Given the description of an element on the screen output the (x, y) to click on. 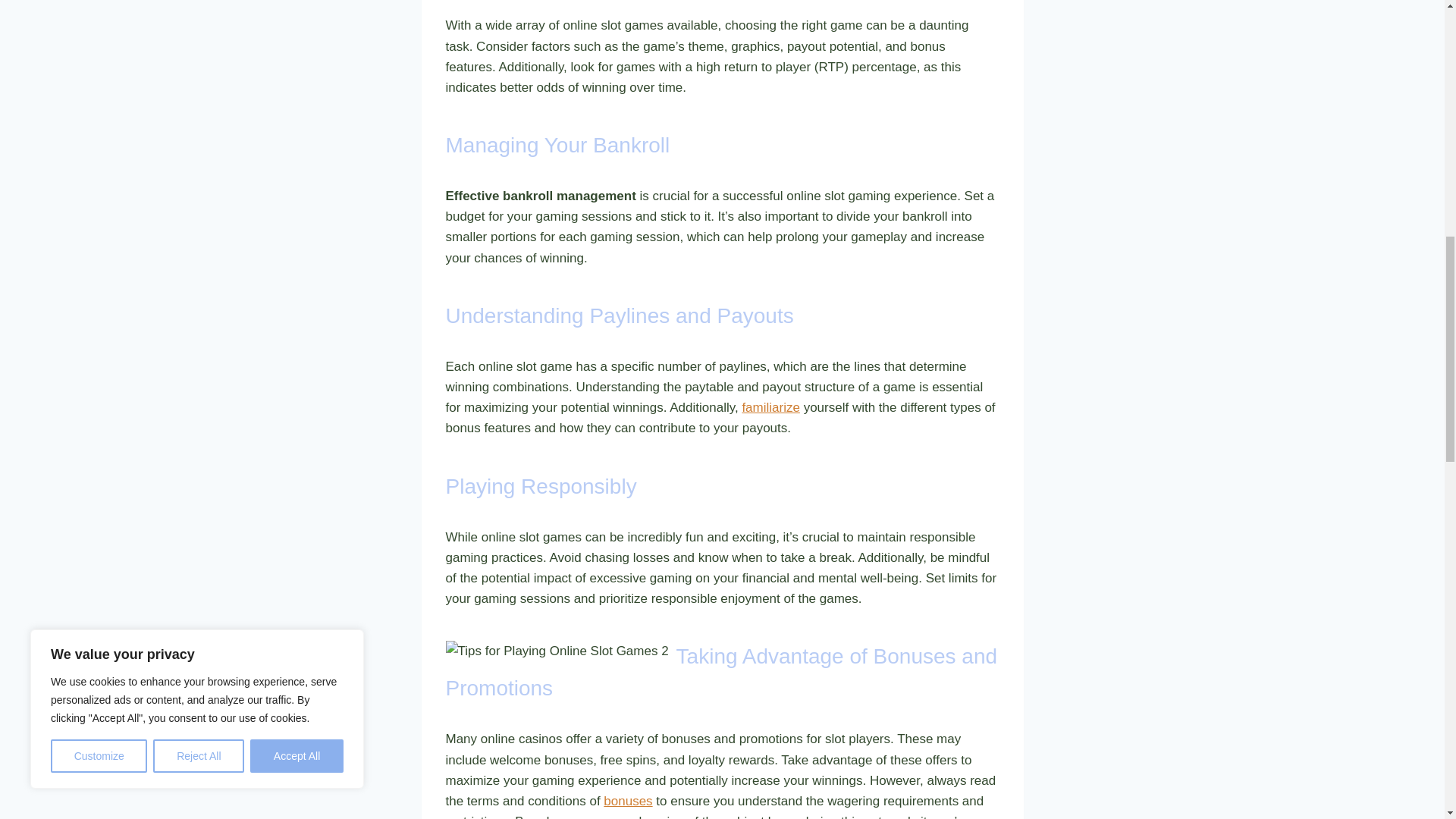
familiarize (770, 407)
bonuses (628, 800)
